Given the description of an element on the screen output the (x, y) to click on. 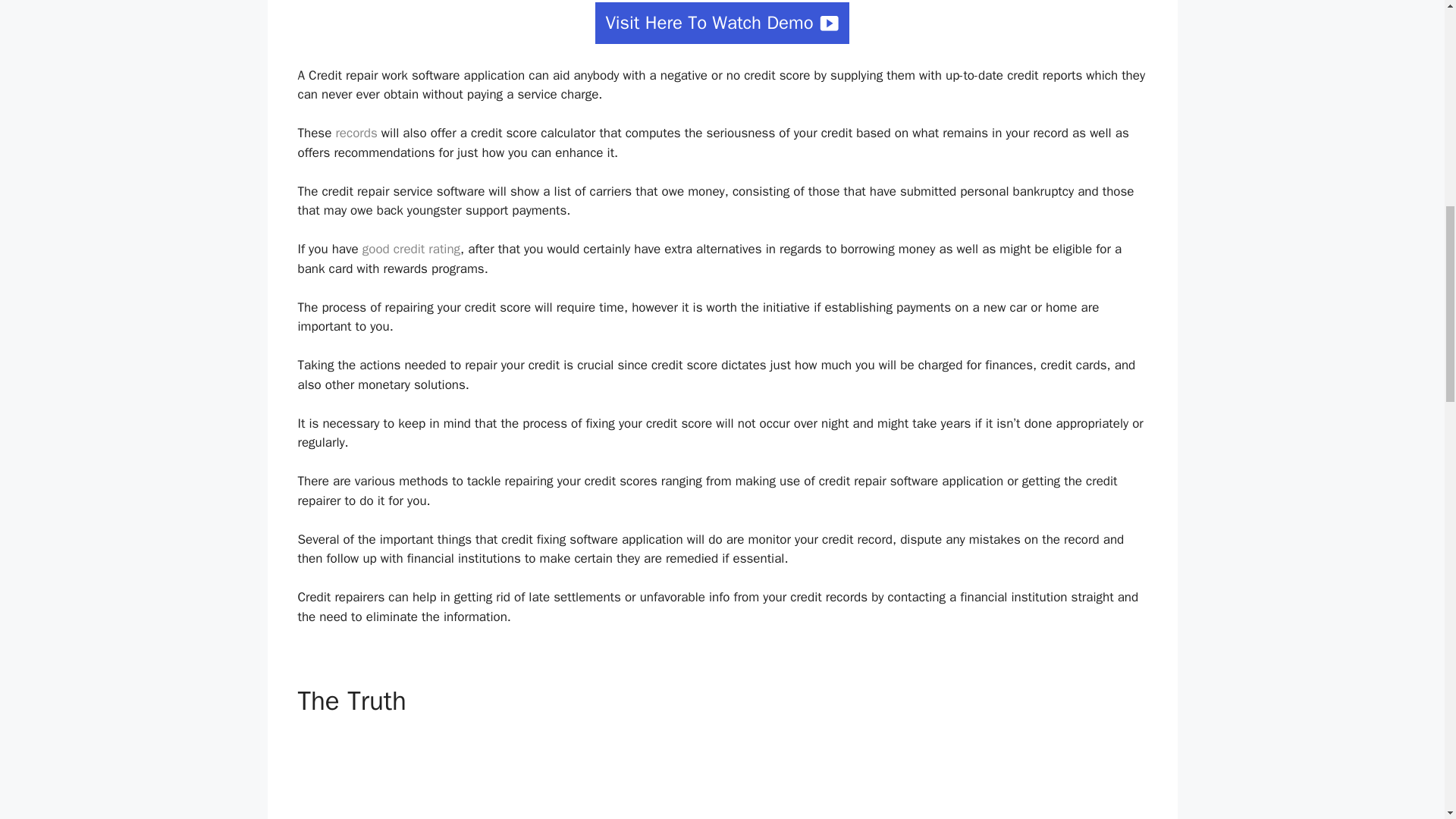
Scroll back to top (1406, 720)
records (355, 132)
good credit rating (411, 248)
Visit Here To Watch Demo (721, 23)
